Given the description of an element on the screen output the (x, y) to click on. 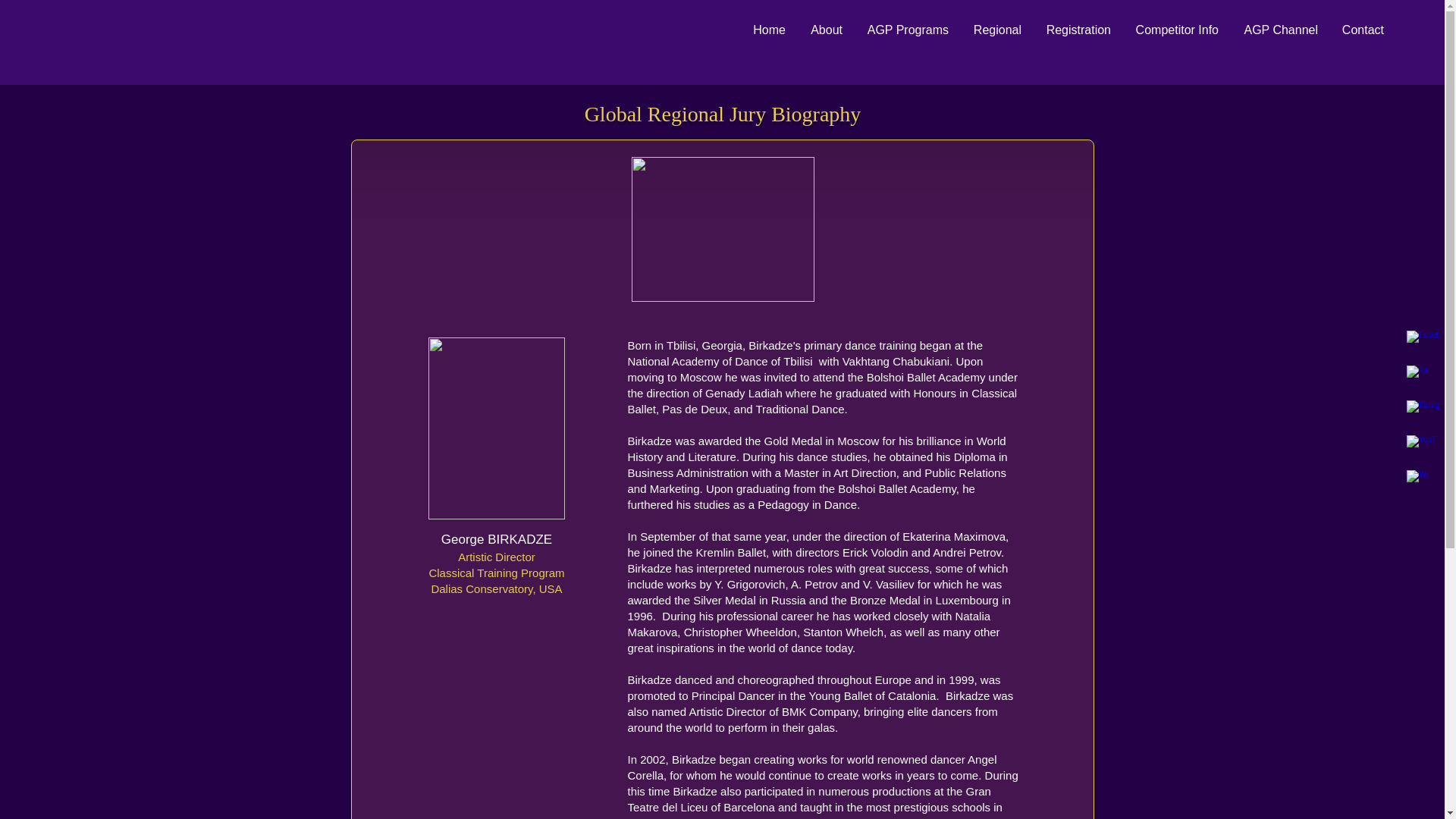
AGP Channel (1279, 30)
About (824, 30)
Registration (1077, 30)
Home (767, 30)
Contact (1361, 30)
Competitor Info (1176, 30)
Regional (995, 30)
